Given the description of an element on the screen output the (x, y) to click on. 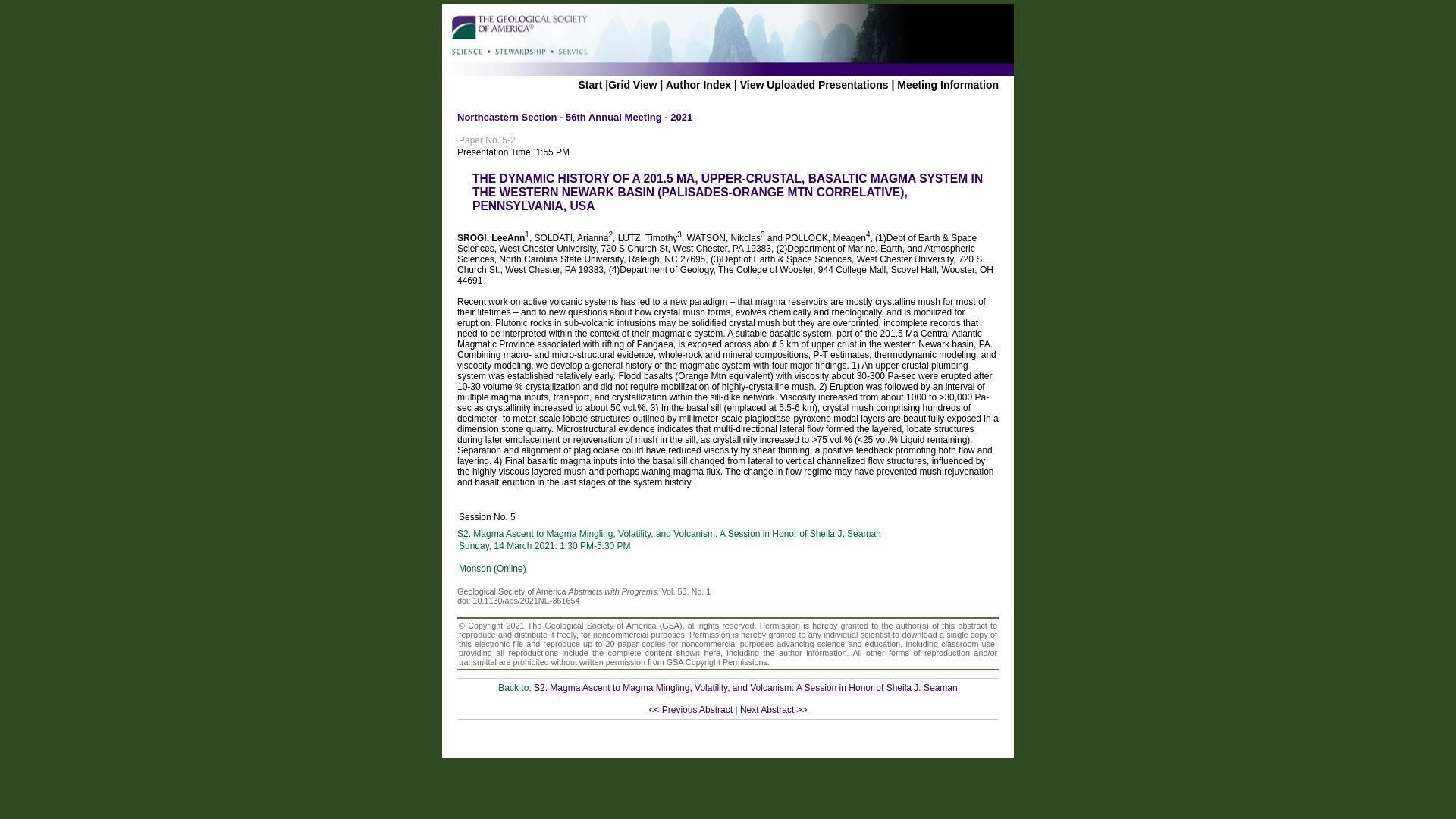
View Uploaded Presentations (813, 84)
Meeting Information (947, 84)
Start (590, 84)
Author Index (697, 84)
Grid View (632, 84)
